Given the description of an element on the screen output the (x, y) to click on. 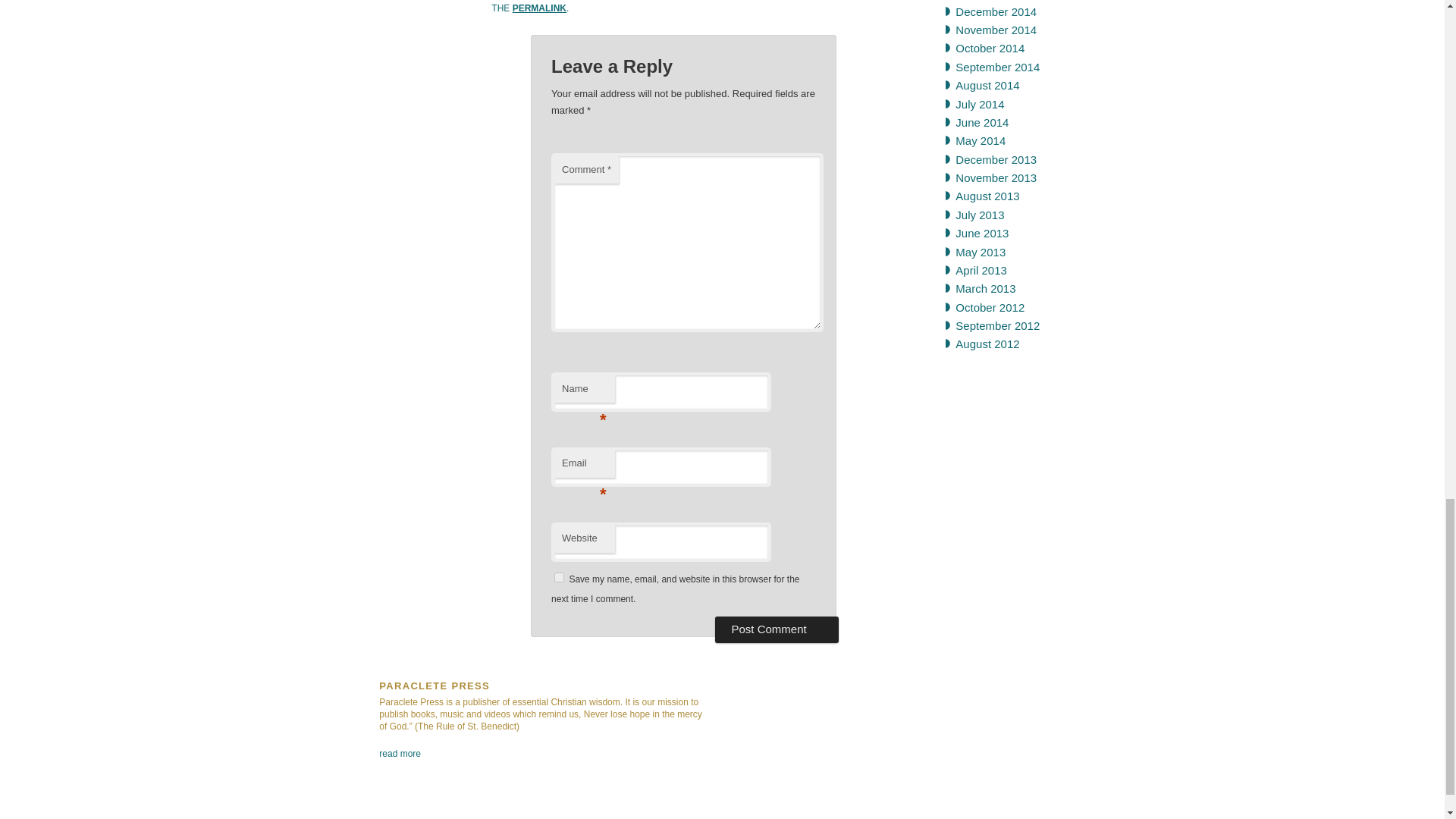
PERMALINK (539, 8)
Post Comment (776, 629)
yes (559, 577)
Post Comment (776, 629)
Permalink to Dinner Rolls: Recipes From A Monastery Kitchen (539, 8)
